Given the description of an element on the screen output the (x, y) to click on. 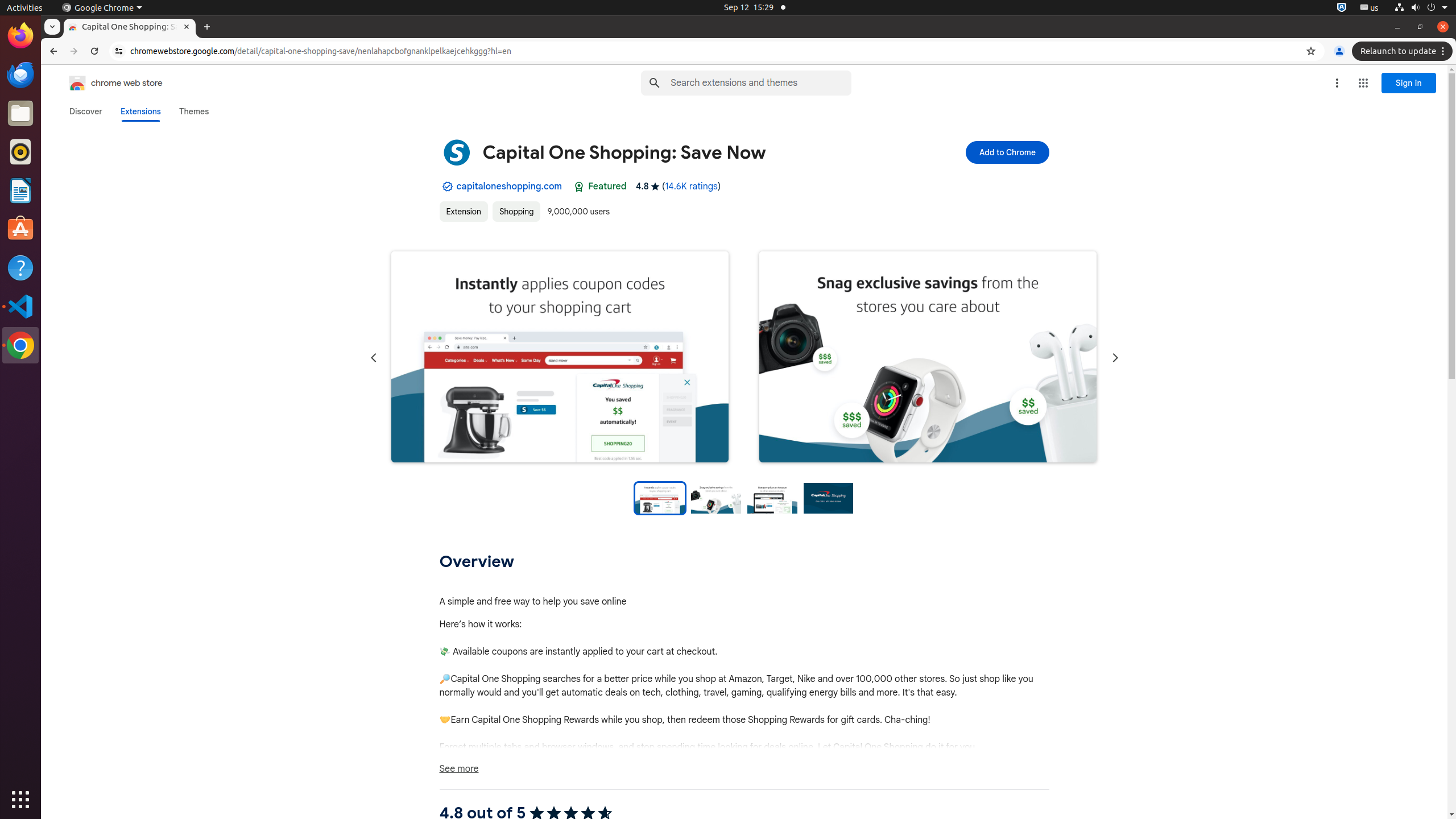
Visual Studio Code Element type: push-button (20, 306)
Google Chrome Element type: push-button (20, 344)
Previous slide Element type: push-button (373, 357)
Forward Element type: push-button (73, 50)
capitaloneshopping.com Element type: link (509, 186)
